Given the description of an element on the screen output the (x, y) to click on. 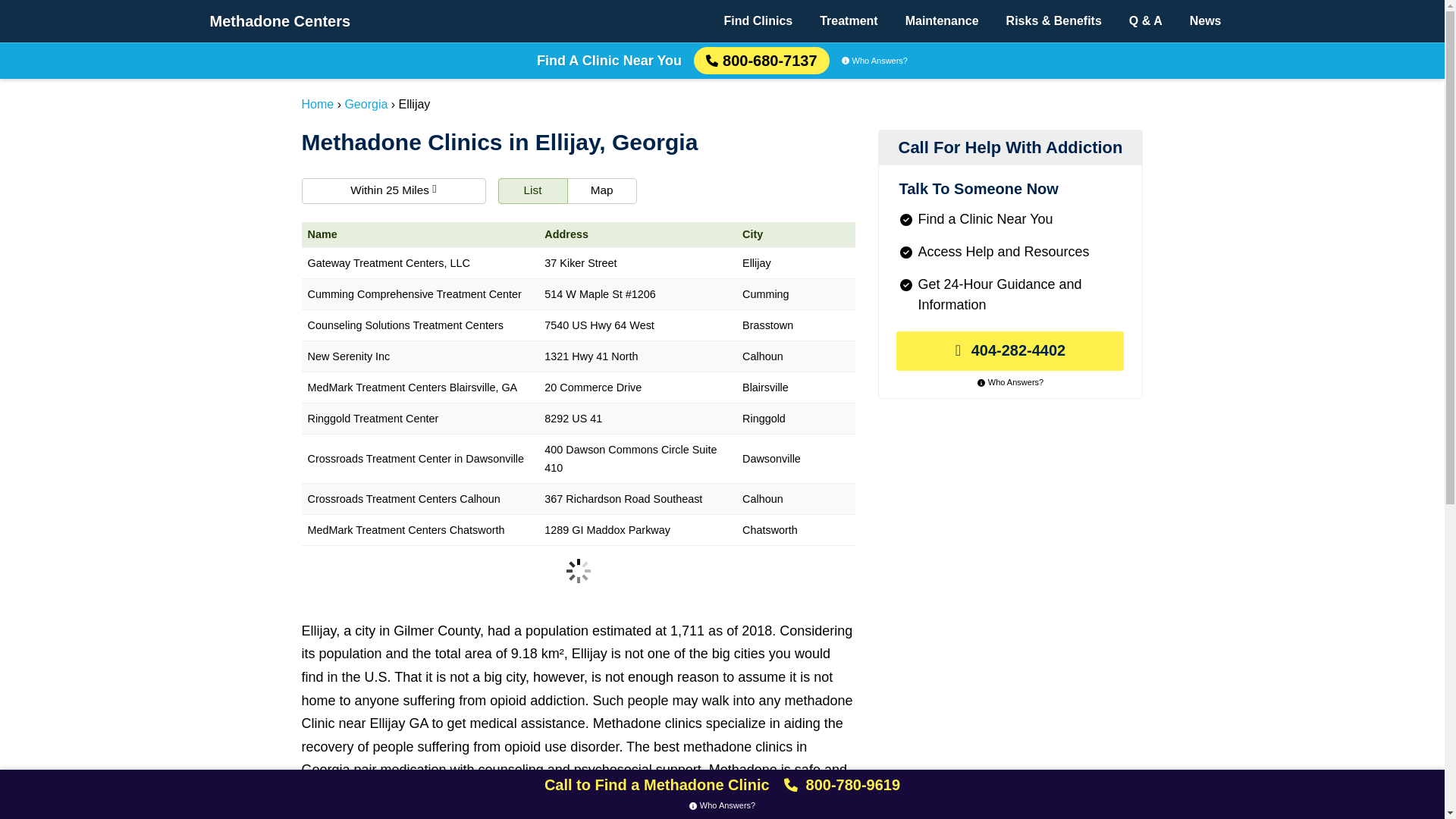
Gateway Treatment Centers, LLC (419, 263)
News (1205, 21)
Map (602, 190)
Cumming Comprehensive Treatment Center (419, 294)
Ringgold Treatment Center (419, 418)
Maintenance (941, 21)
Gateway Treatment Centers, LLC (419, 263)
MedMark Treatment Centers Chatsworth (419, 530)
Crossroads Treatment Center in Dawsonville (419, 459)
MedMark Treatment Centers Blairsville, GA (419, 387)
